Given the description of an element on the screen output the (x, y) to click on. 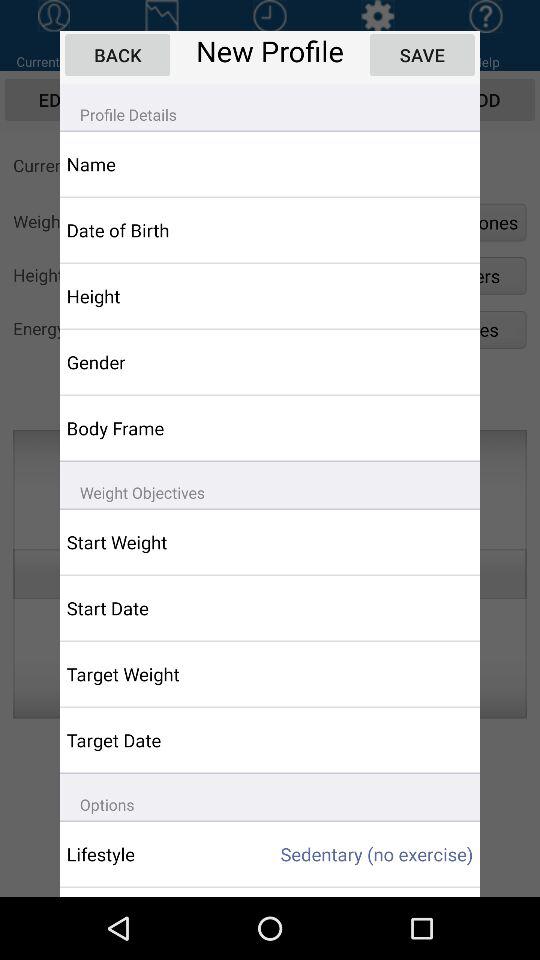
click the app below target weight (156, 739)
